Given the description of an element on the screen output the (x, y) to click on. 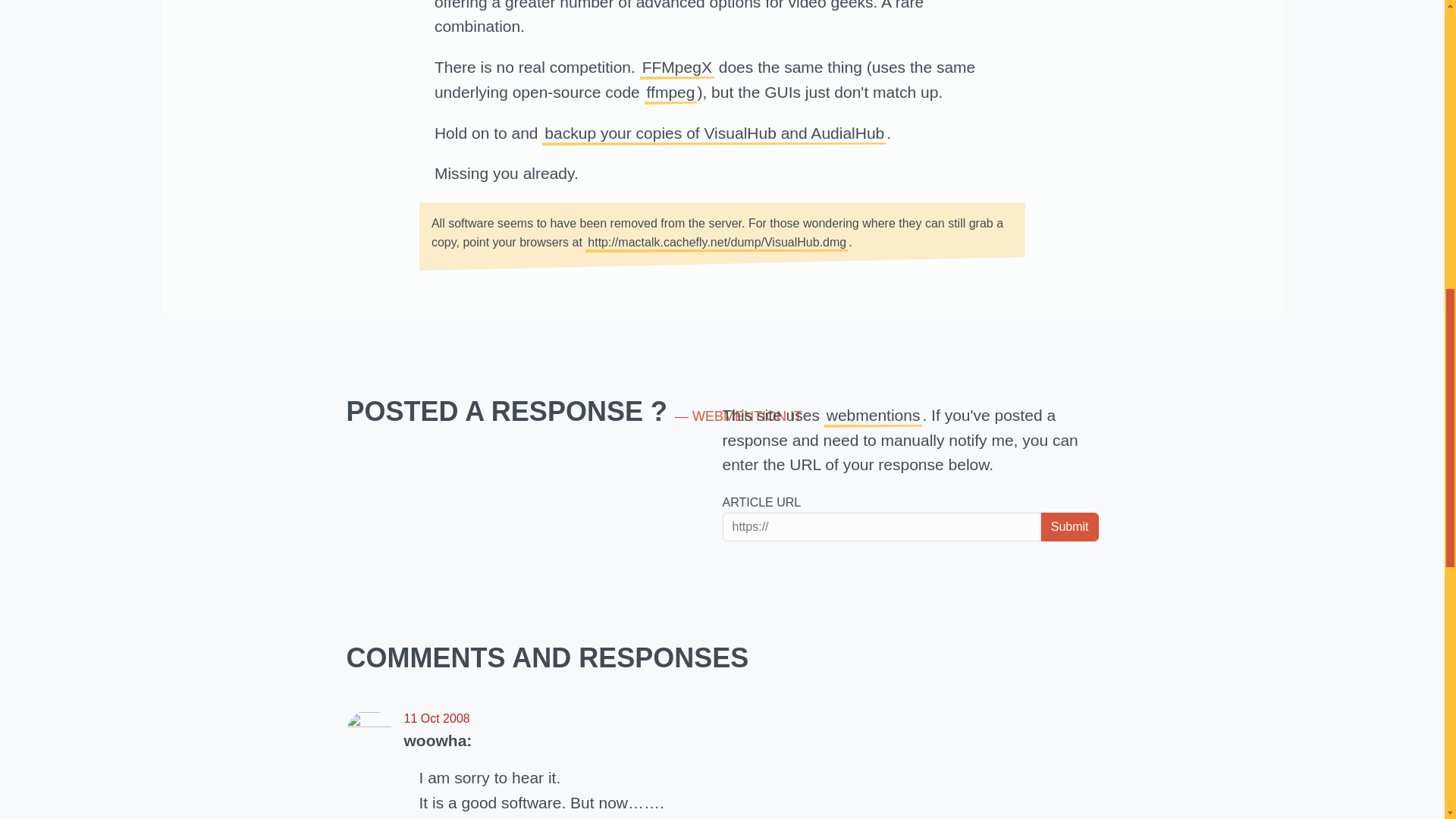
FFMpegX (677, 66)
webmentions (873, 414)
Submit (1070, 526)
ffmpeg (671, 92)
VisualHub installer (716, 241)
FFmpeg (671, 92)
FFMpegX (677, 66)
backup your copies of VisualHub and AudialHub (713, 133)
How to backup VisualHub (713, 133)
